Given the description of an element on the screen output the (x, y) to click on. 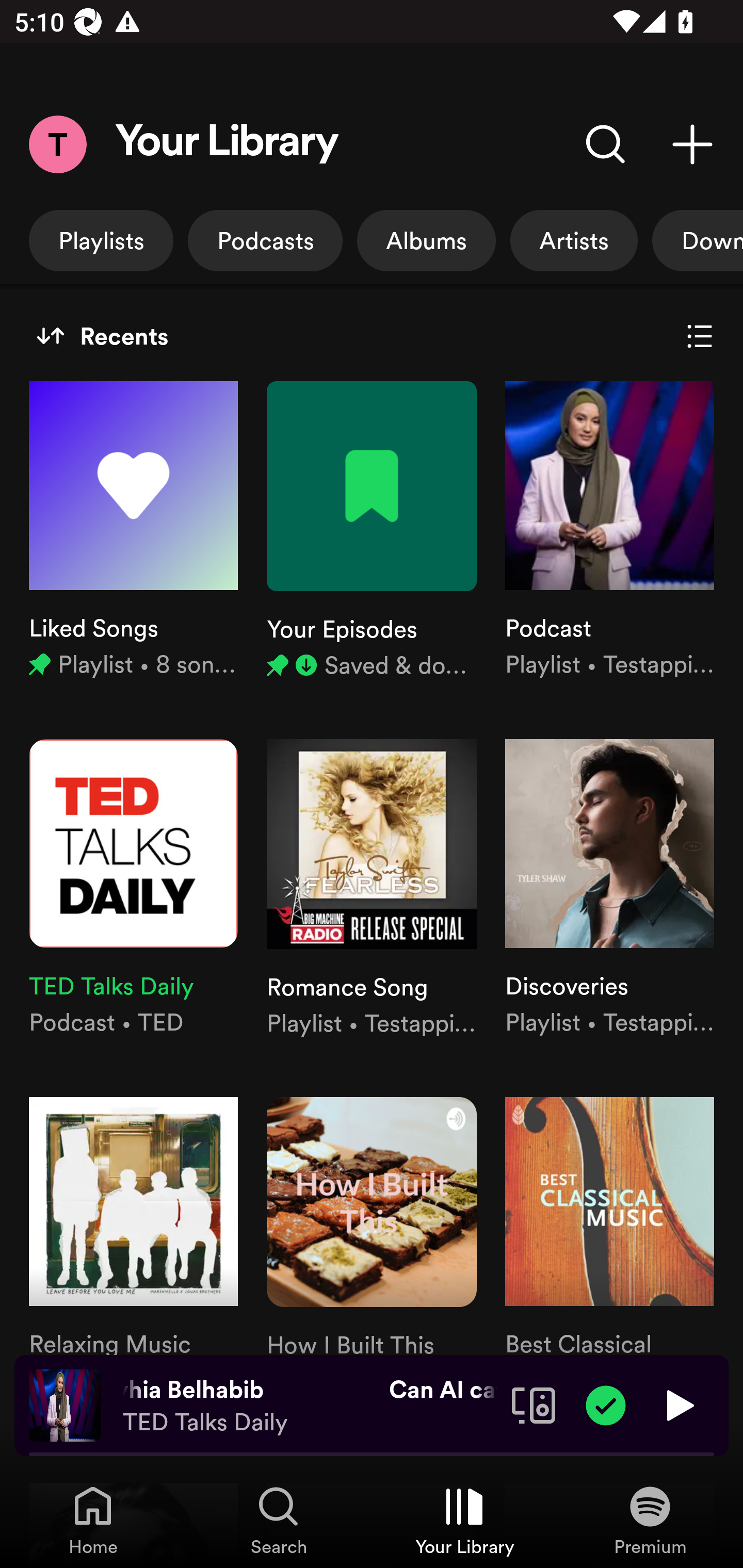
Menu (57, 144)
Search Your Library (605, 144)
Create playlist (692, 144)
Your Library Your Library Heading (226, 144)
Playlists, show only playlists. (100, 240)
Podcasts, show only podcasts. (264, 240)
Albums, show only albums. (426, 240)
Artists, show only artists. (573, 240)
Downloaded, show only downloaded. (697, 240)
Recents (101, 336)
Show List view (699, 336)
The cover art of the currently playing track (64, 1404)
Connect to a device. Opens the devices menu (533, 1404)
Item added (605, 1404)
Play (677, 1404)
Home, Tab 1 of 4 Home Home (92, 1519)
Search, Tab 2 of 4 Search Search (278, 1519)
Your Library, Tab 3 of 4 Your Library Your Library (464, 1519)
Premium, Tab 4 of 4 Premium Premium (650, 1519)
